Given the description of an element on the screen output the (x, y) to click on. 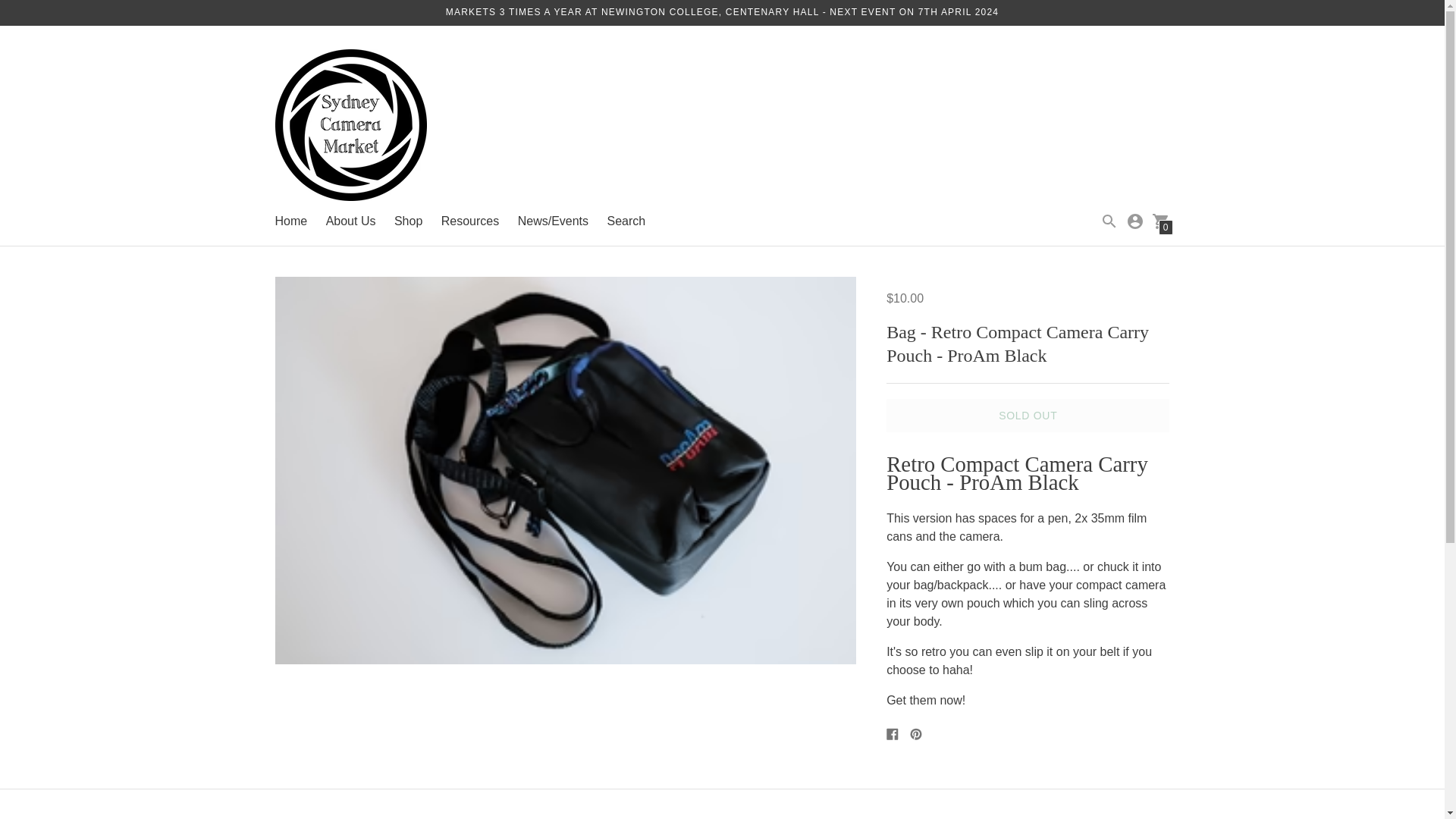
Shop (408, 220)
Search (626, 220)
Home (291, 220)
Resources (470, 220)
About Us (350, 220)
